Given the description of an element on the screen output the (x, y) to click on. 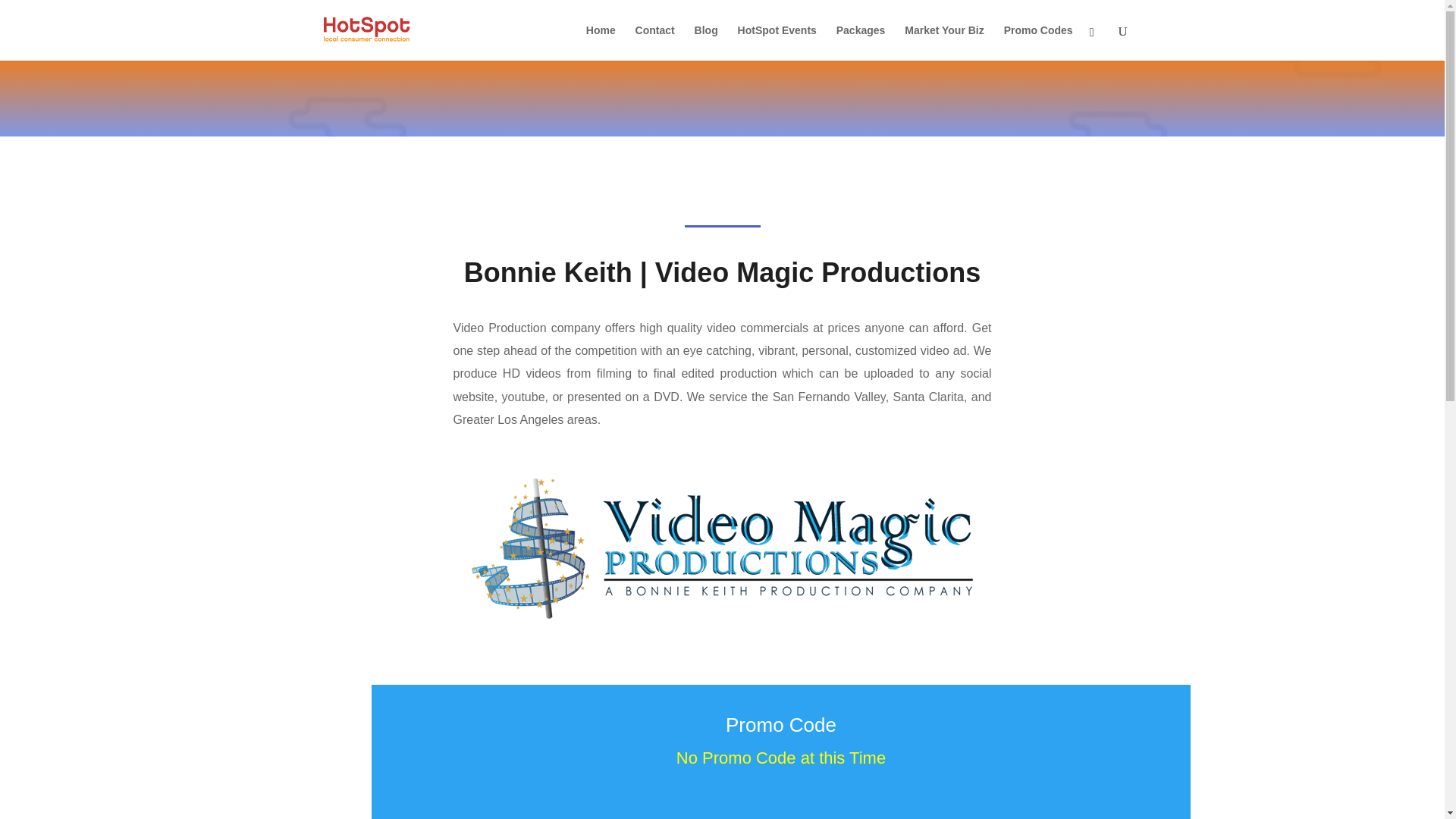
Packages (860, 42)
Promo Codes (1038, 42)
HotSpot Events (777, 42)
Contact (654, 42)
Market Your Biz (944, 42)
